Given the description of an element on the screen output the (x, y) to click on. 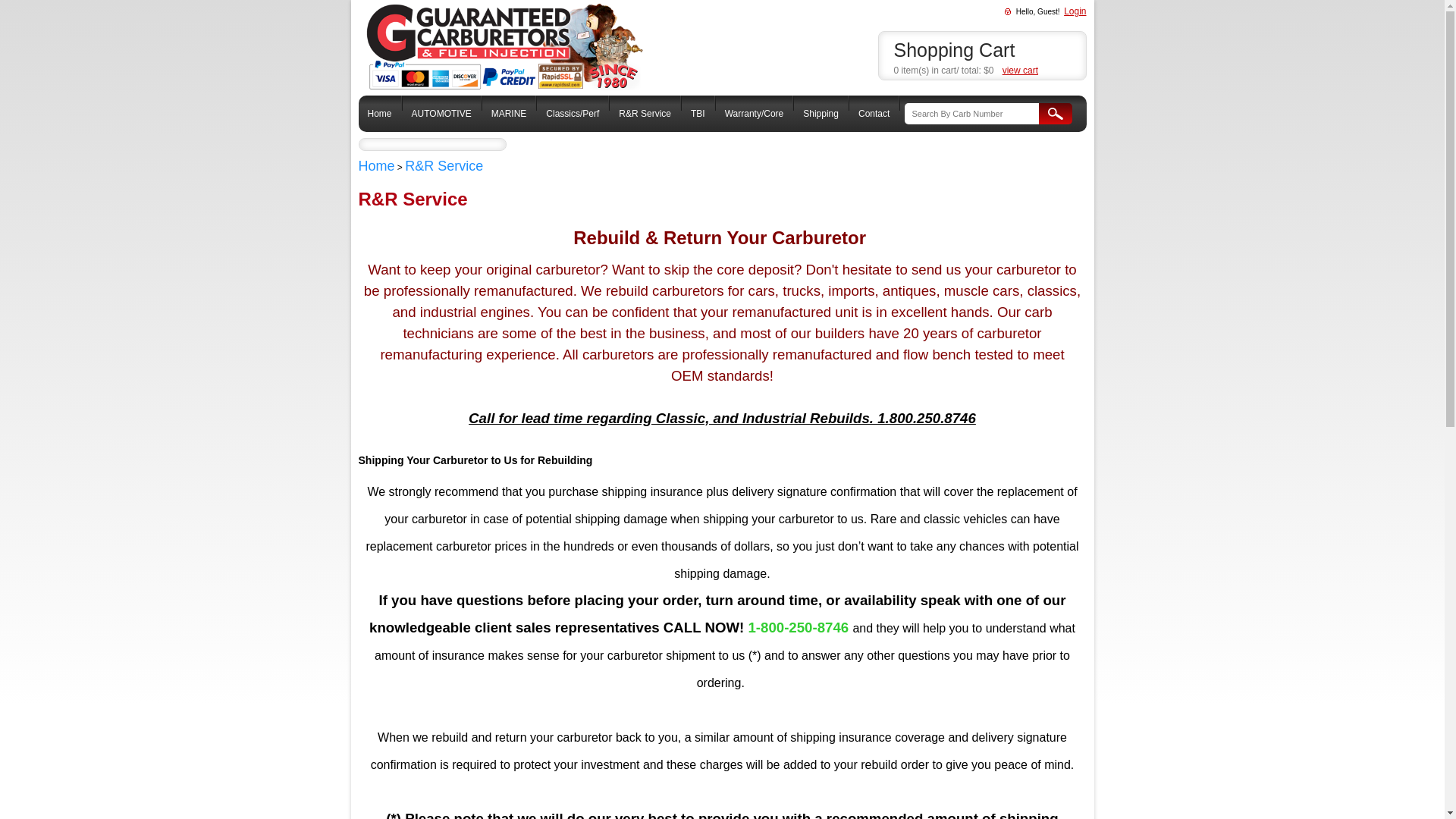
Login (1075, 10)
AUTOMOTIVE (441, 113)
Shipping (820, 113)
Home (379, 113)
TBI (697, 113)
Contact (873, 113)
Home (376, 165)
MARINE (508, 113)
view cart (1020, 70)
